Given the description of an element on the screen output the (x, y) to click on. 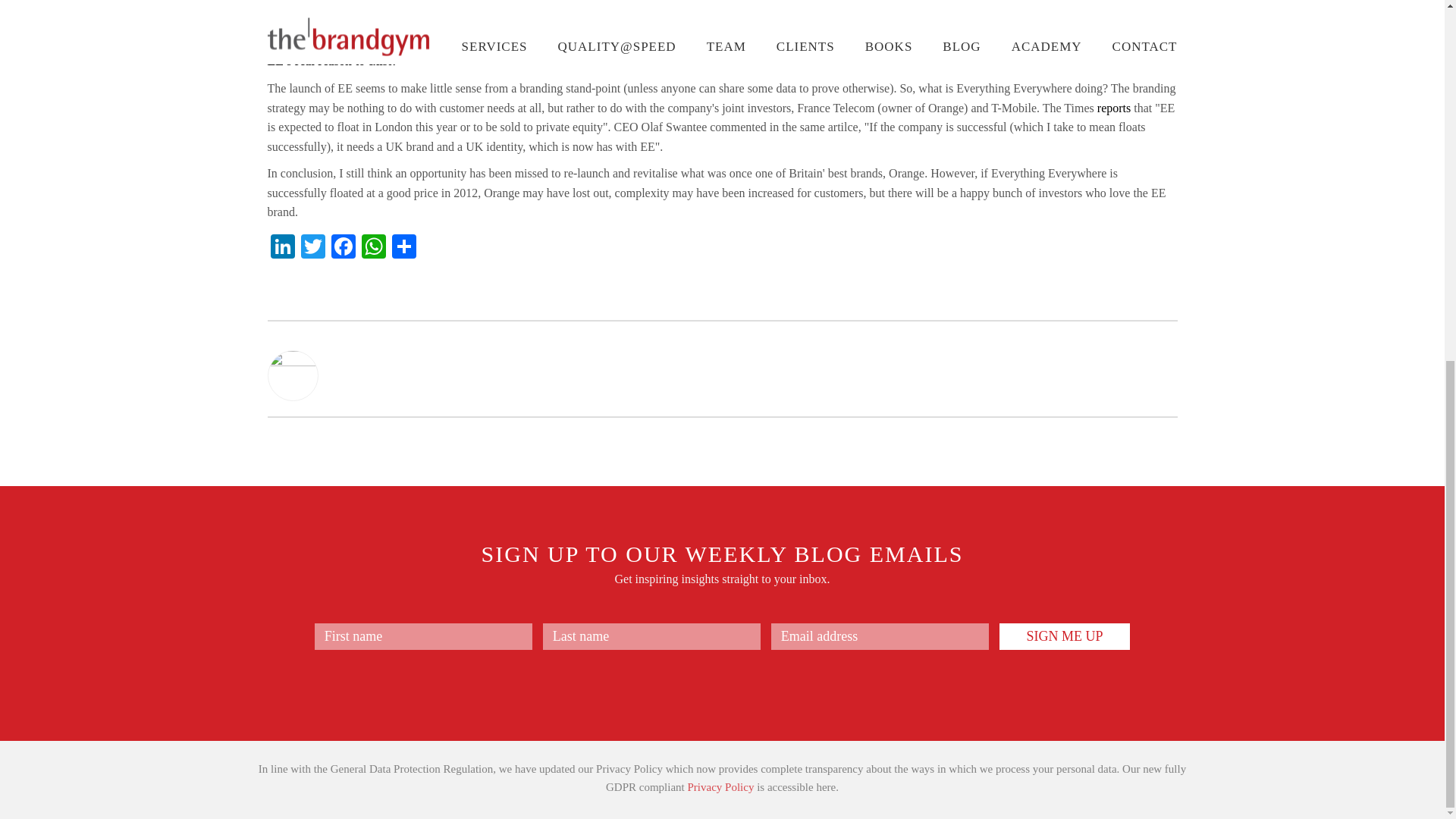
LinkedIn (281, 248)
SIGN ME UP (1064, 636)
Facebook (342, 248)
WhatsApp (373, 248)
Screen Shot 2013-03-05 at 13.17.34 (360, 35)
Twitter (312, 248)
